Given the description of an element on the screen output the (x, y) to click on. 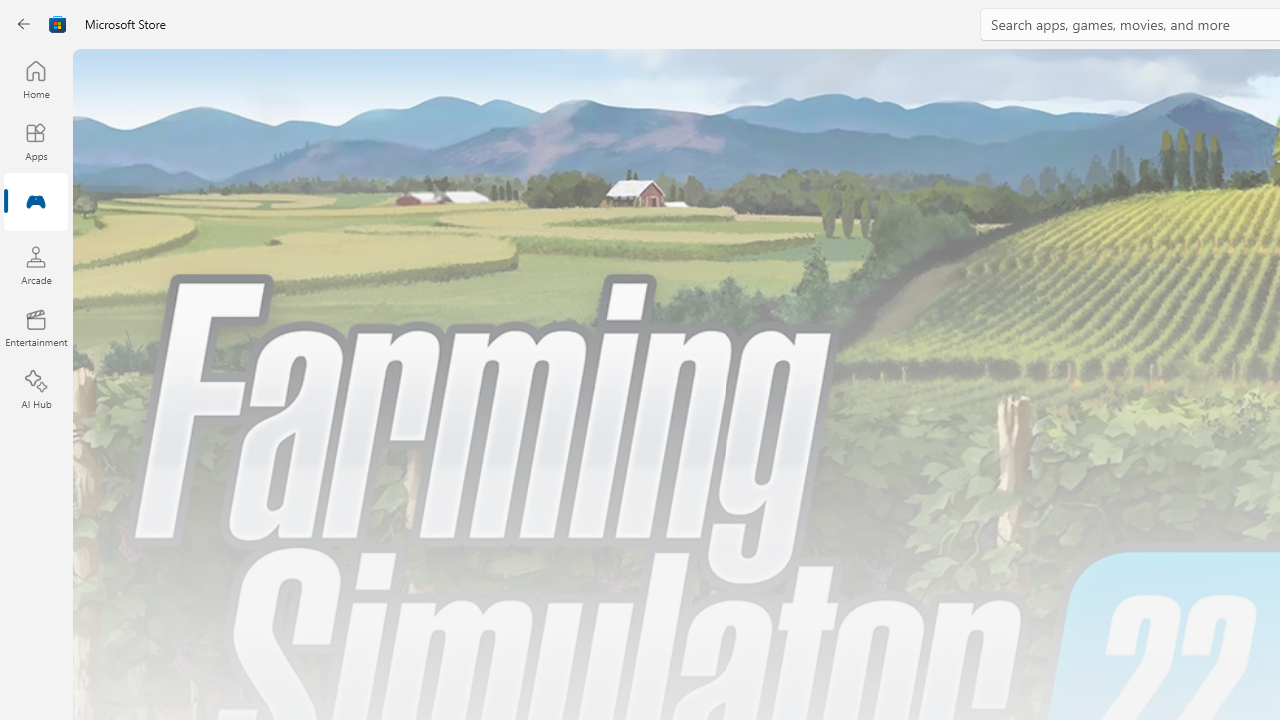
Back (24, 24)
